Given the description of an element on the screen output the (x, y) to click on. 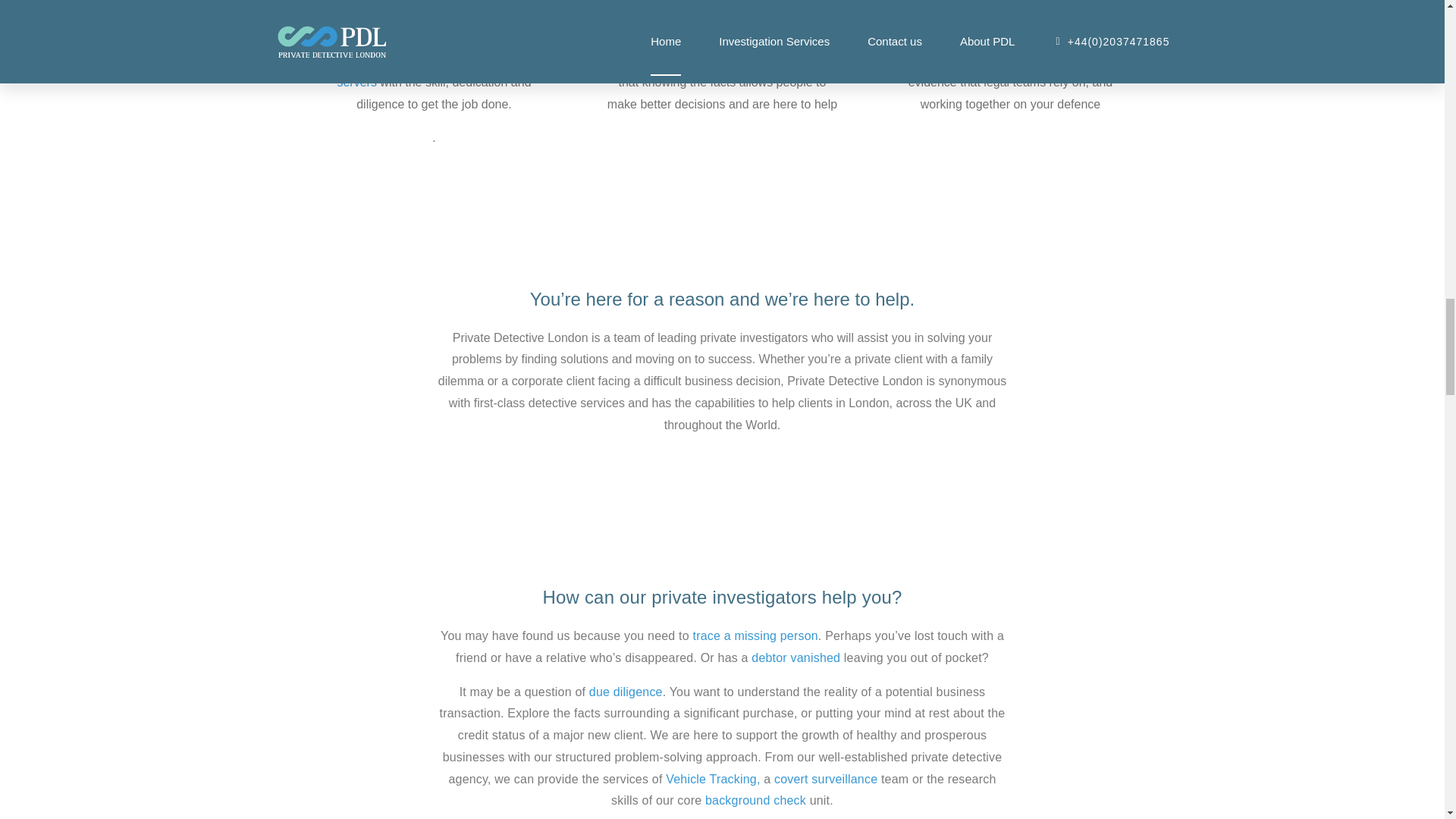
Vehicle Tracking (712, 779)
Due Diligence (625, 691)
Background Check London (755, 799)
